Given the description of an element on the screen output the (x, y) to click on. 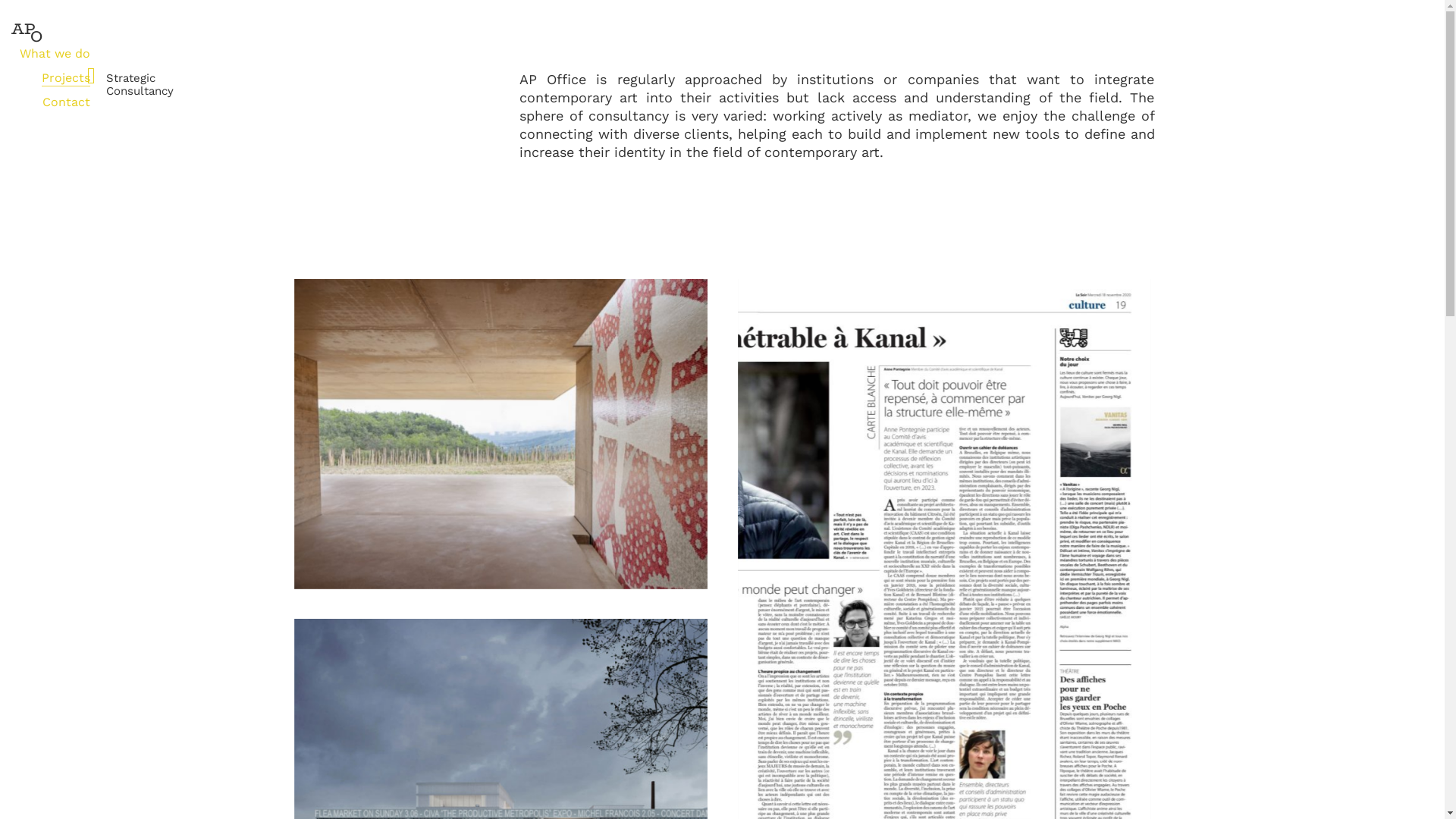
What we do Element type: text (54, 53)
Projects Element type: text (65, 77)
Contact Element type: text (66, 101)
